Given the description of an element on the screen output the (x, y) to click on. 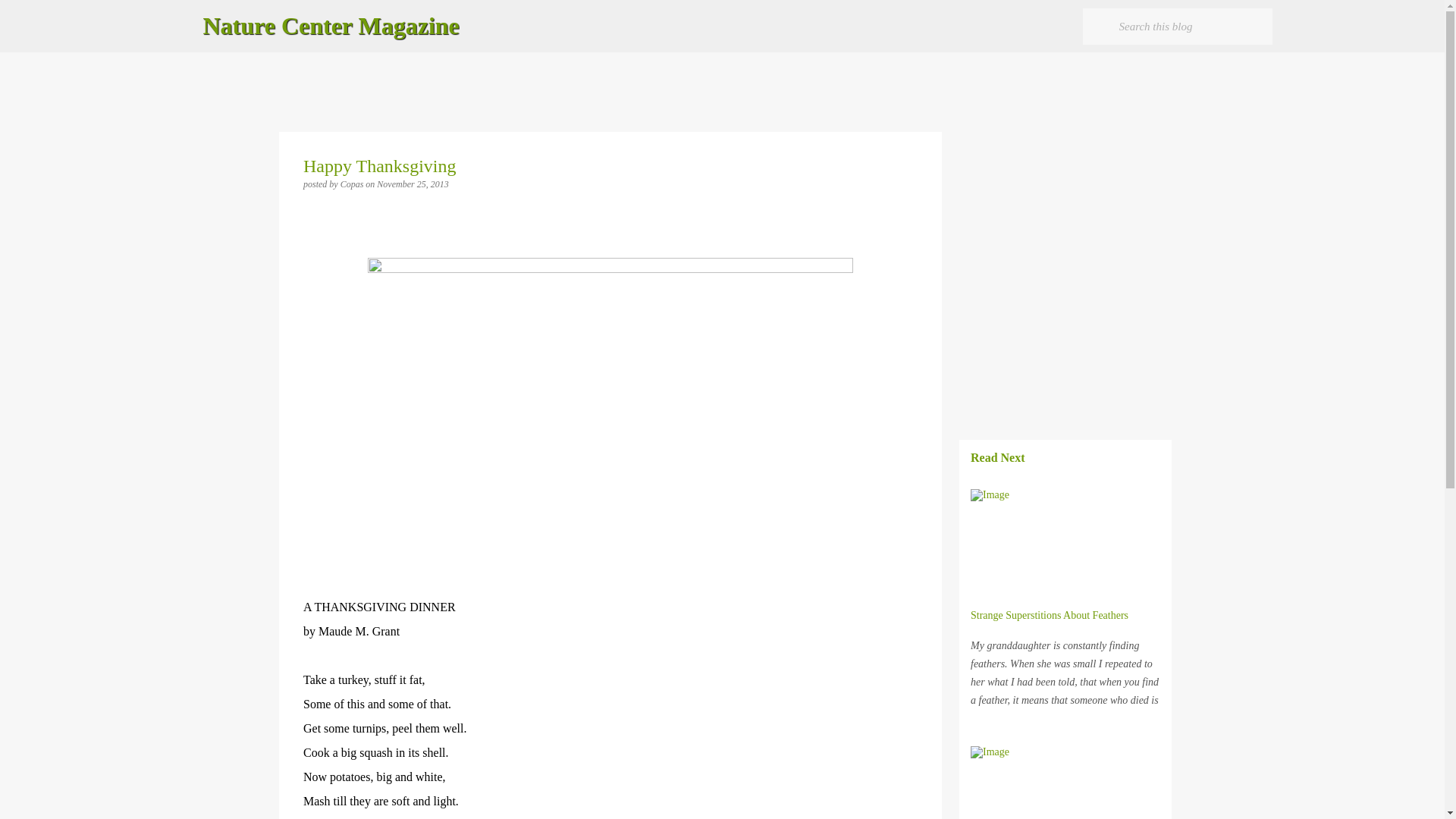
November 25, 2013 (412, 184)
Strange Superstitions About Feathers (1049, 614)
Copas (353, 184)
Nature Center Magazine (331, 25)
author profile (353, 184)
permanent link (412, 184)
